Given the description of an element on the screen output the (x, y) to click on. 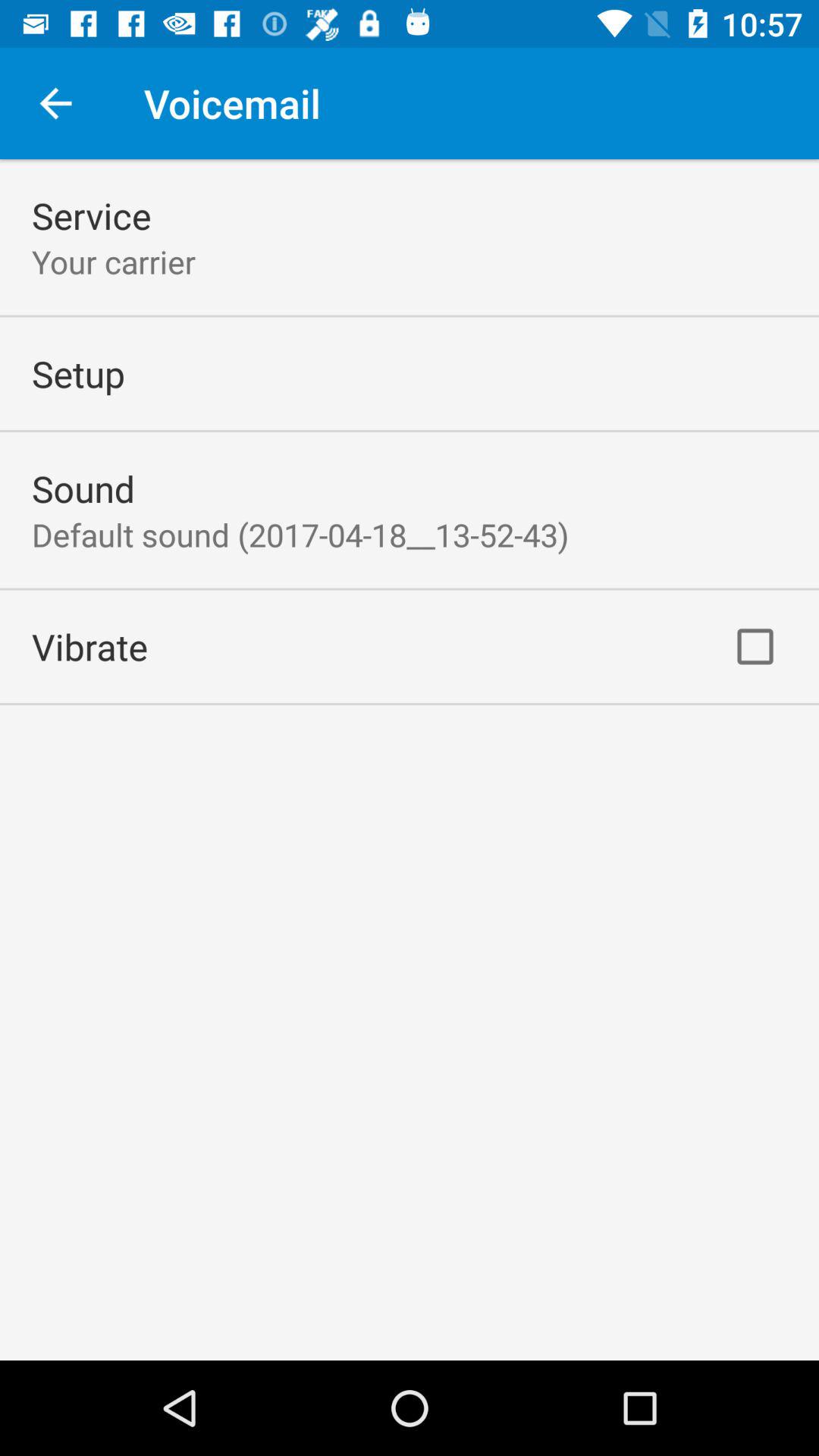
open the service icon (91, 215)
